Given the description of an element on the screen output the (x, y) to click on. 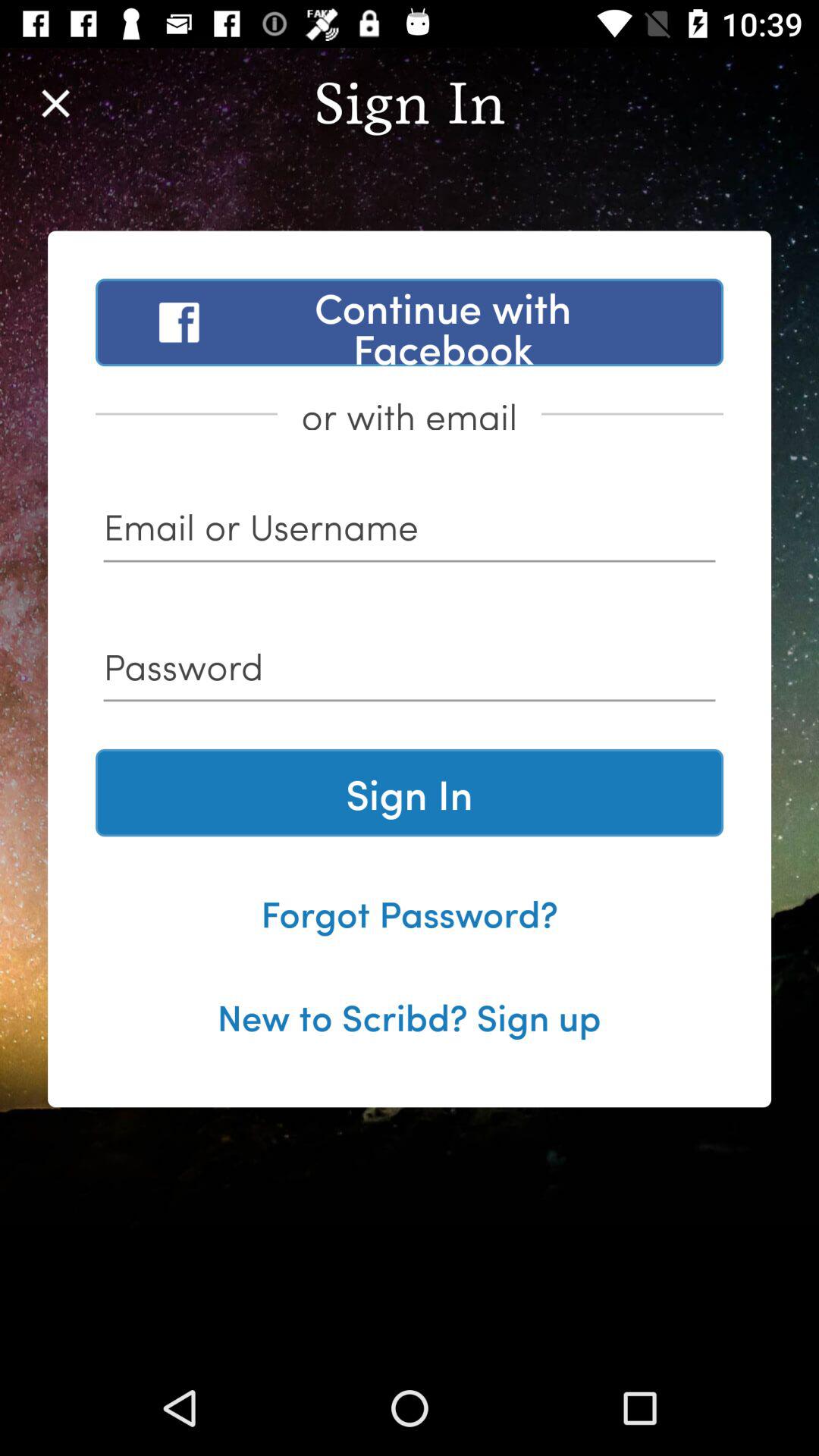
press the icon below sign in icon (409, 912)
